Given the description of an element on the screen output the (x, y) to click on. 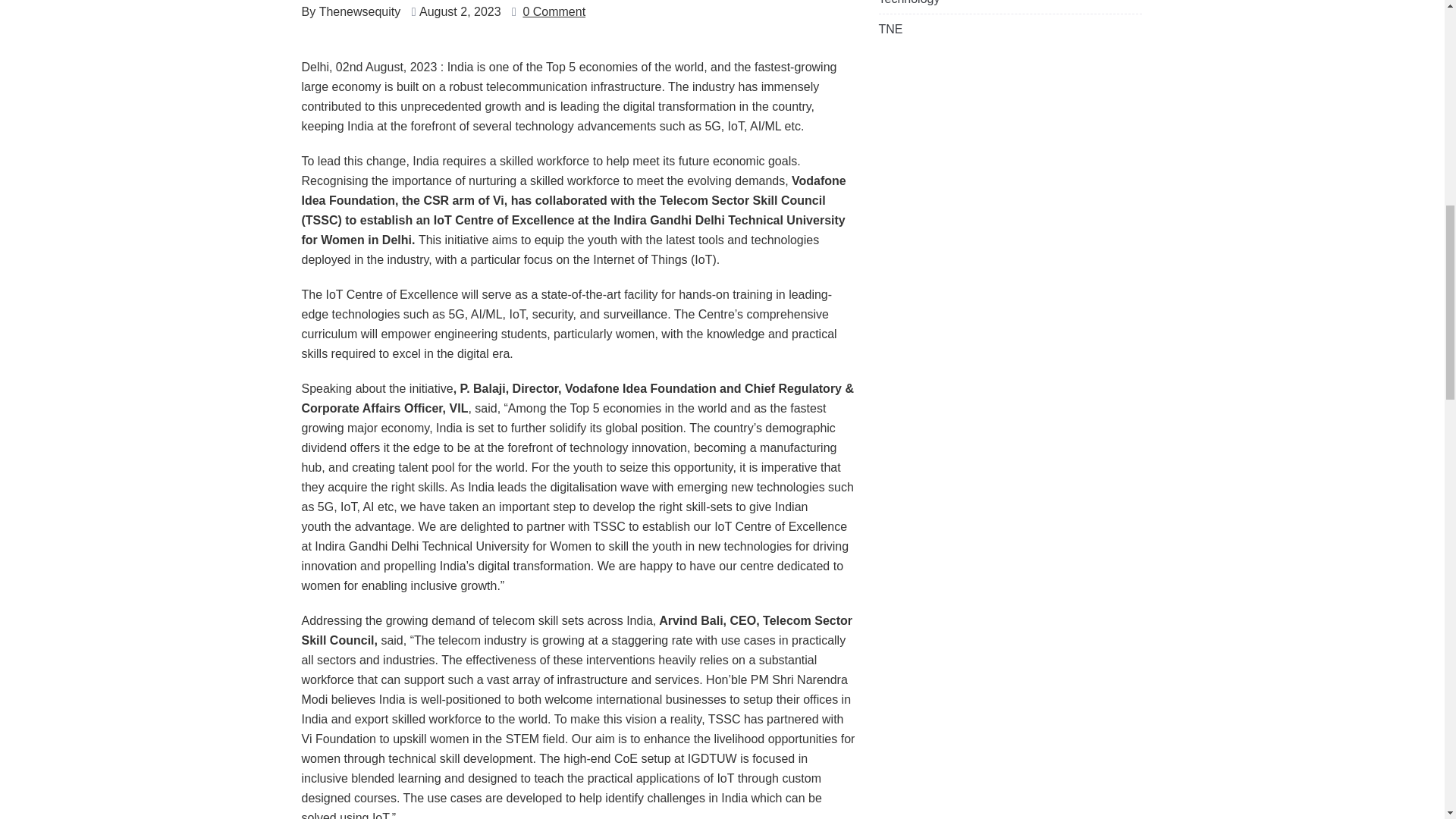
Thenewsequity (359, 12)
0 Comment (553, 12)
